Given the description of an element on the screen output the (x, y) to click on. 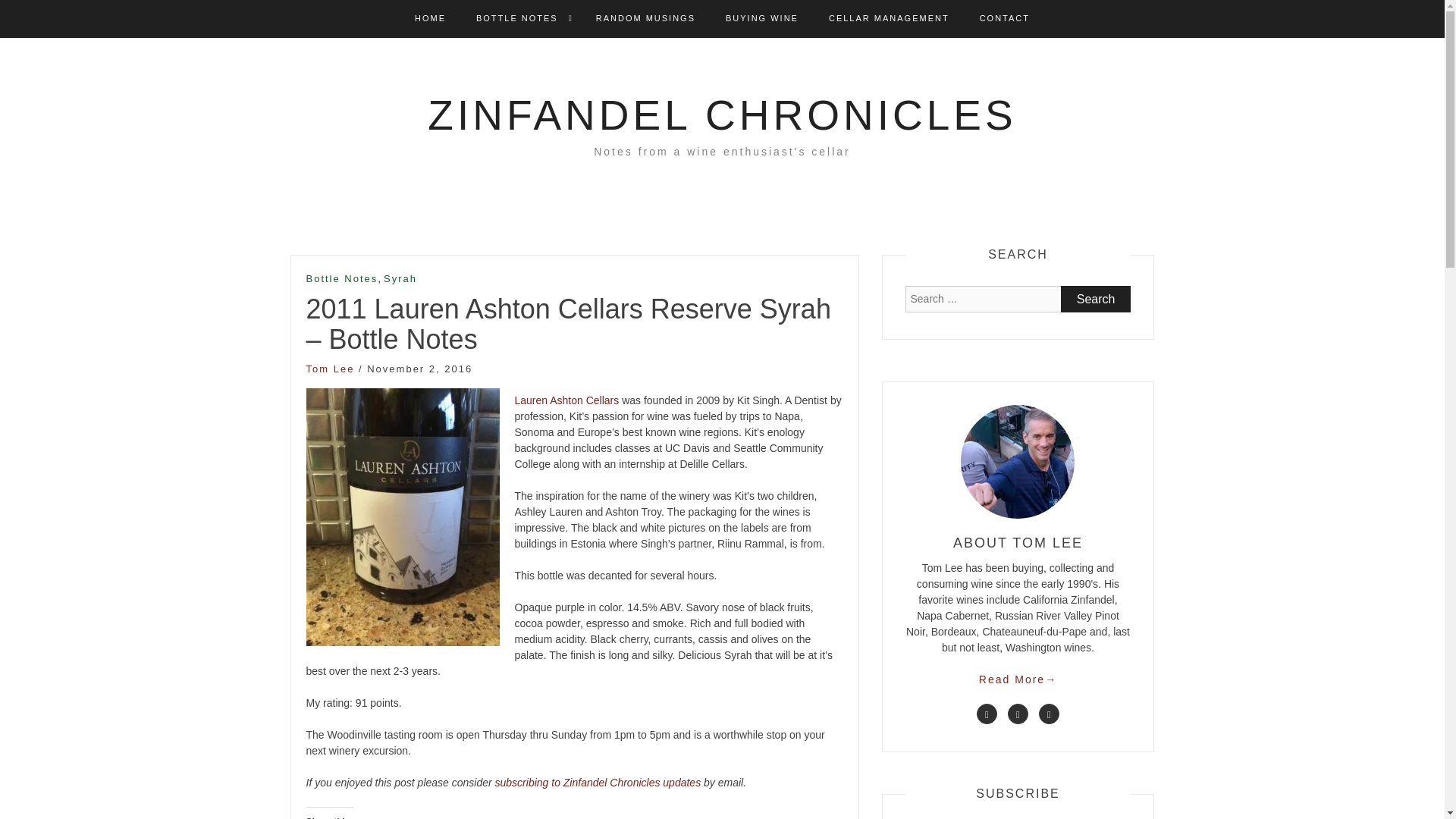
ZINFANDEL CHRONICLES (722, 114)
Lauren Ashton Cellars (565, 399)
twitter (986, 713)
RANDOM MUSINGS (645, 18)
Bottle Notes (341, 278)
Tom Lee (330, 368)
HOME (429, 18)
Lauren Ashton Cellars (565, 399)
BOTTLE NOTES (516, 18)
instagram (1049, 713)
Search (1096, 298)
CELLAR MANAGEMENT (888, 18)
subscribing to Zinfandel Chronicles updates (598, 782)
CONTACT (1004, 18)
linkedin (1017, 713)
